Given the description of an element on the screen output the (x, y) to click on. 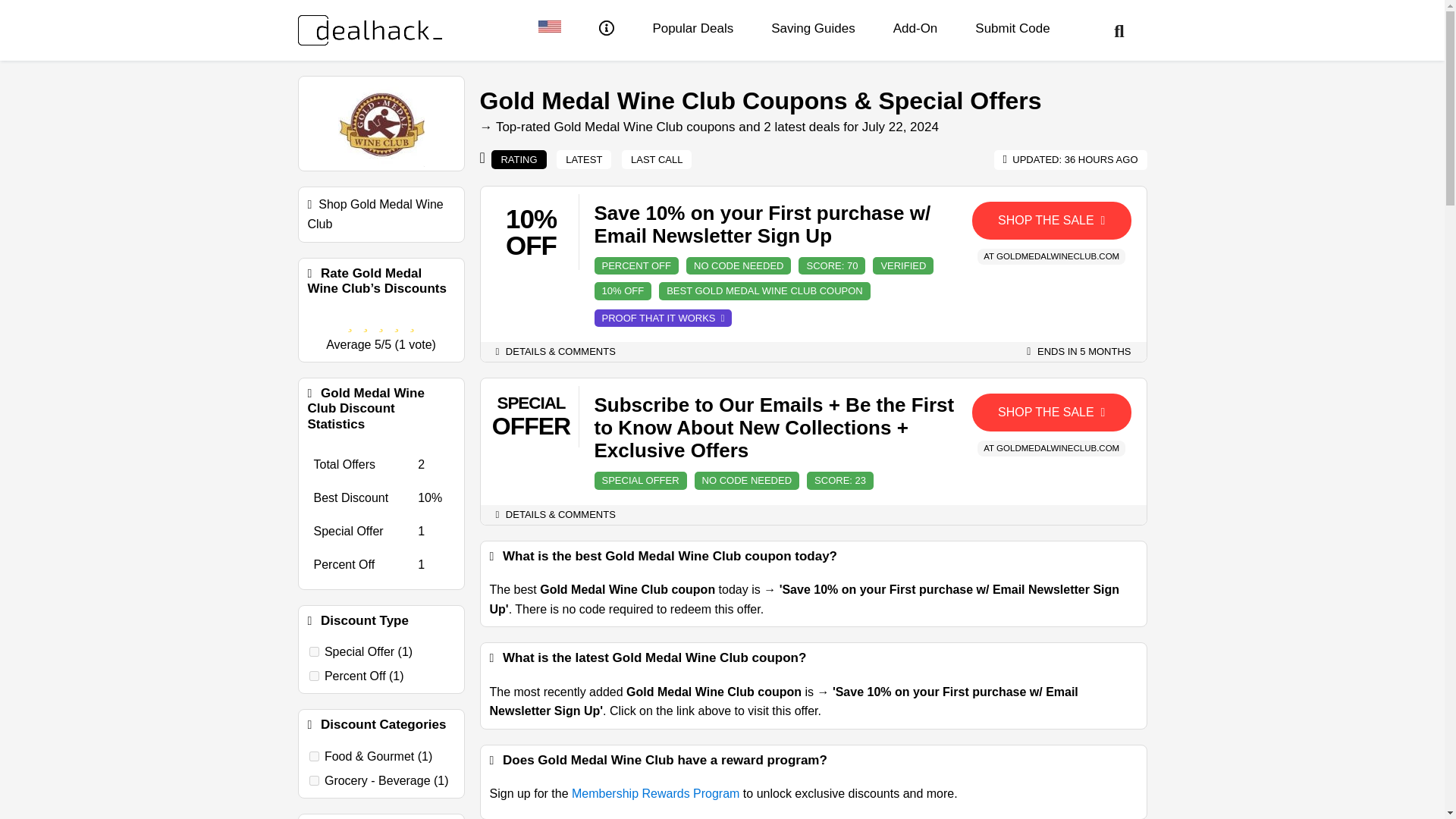
Affiliate Disclaimer (606, 30)
food-cooking (313, 756)
percent (313, 675)
Dealhack USA (549, 29)
Click to open site (1051, 412)
grocery-beverages (313, 780)
Popular Deals (692, 29)
offer (313, 651)
Click to open site (1051, 220)
